Given the description of an element on the screen output the (x, y) to click on. 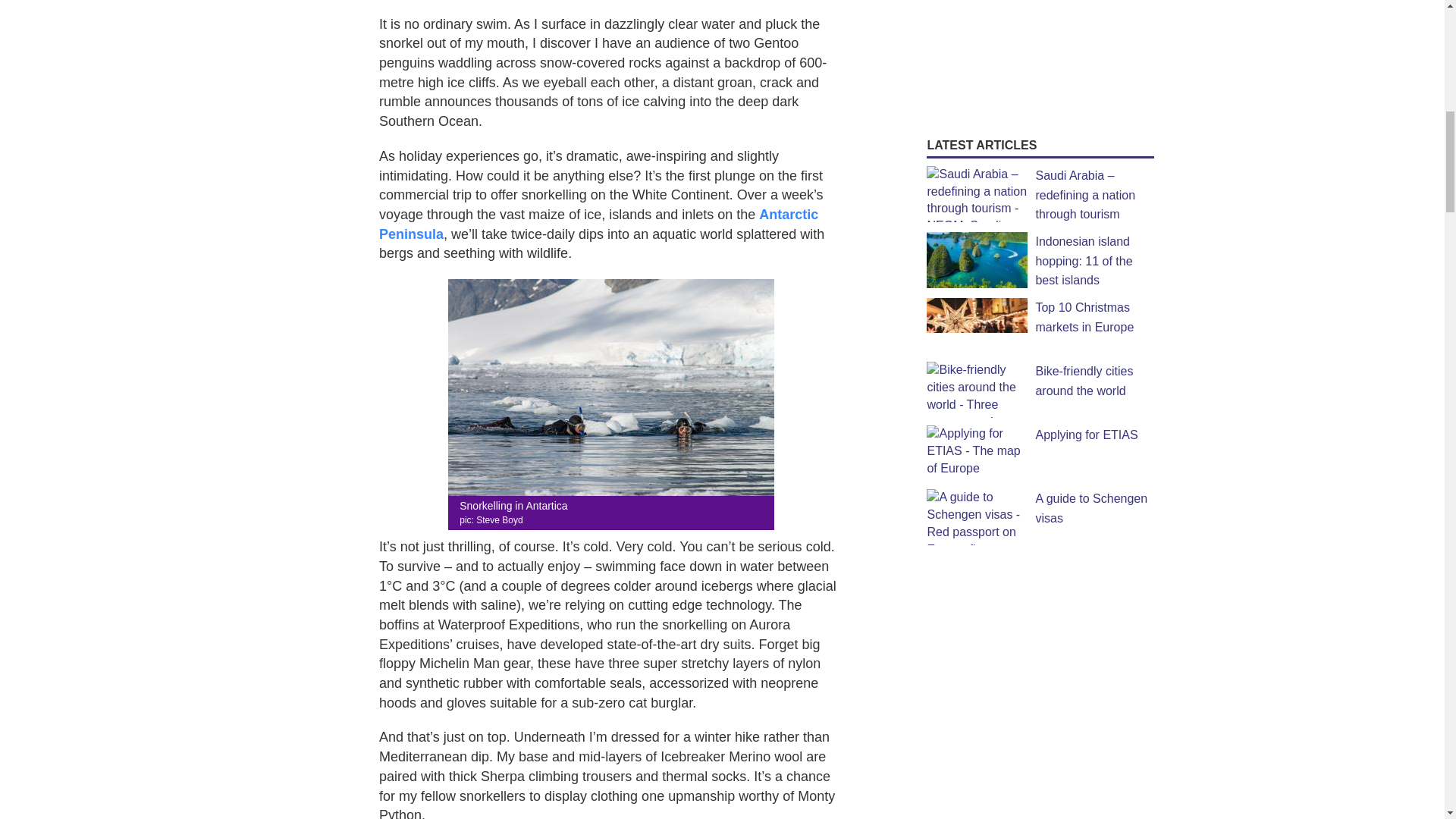
Indonesian island hopping: 11 of the best islands (1083, 260)
Bike-friendly cities around the world (1083, 380)
Top 10 Christmas markets in Europe (1084, 317)
Applying for ETIAS (1086, 434)
Antarctic Peninsula (598, 224)
